Given the description of an element on the screen output the (x, y) to click on. 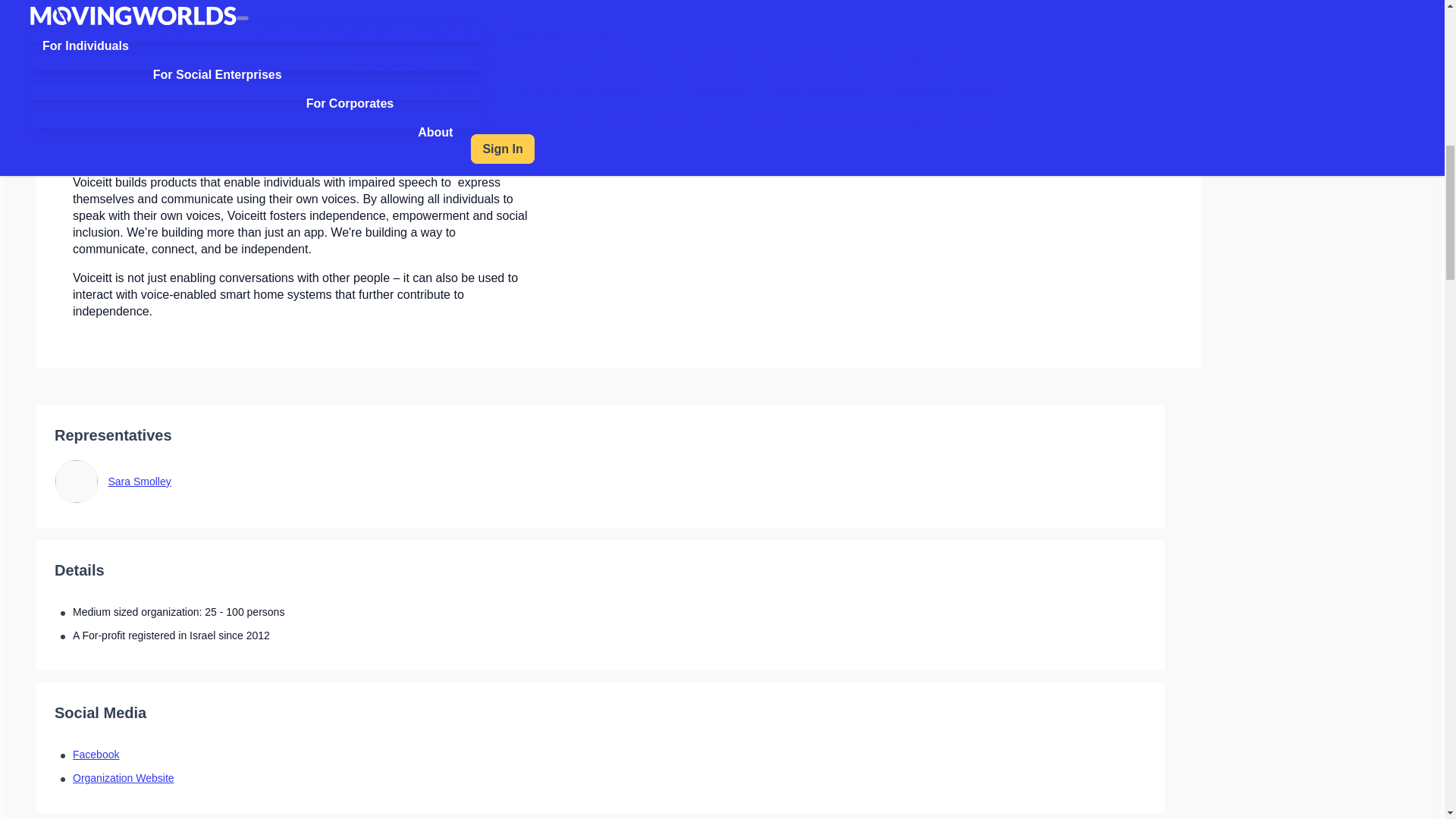
Organization Website (123, 777)
Facebook (95, 754)
Sara Smolley (138, 480)
